Given the description of an element on the screen output the (x, y) to click on. 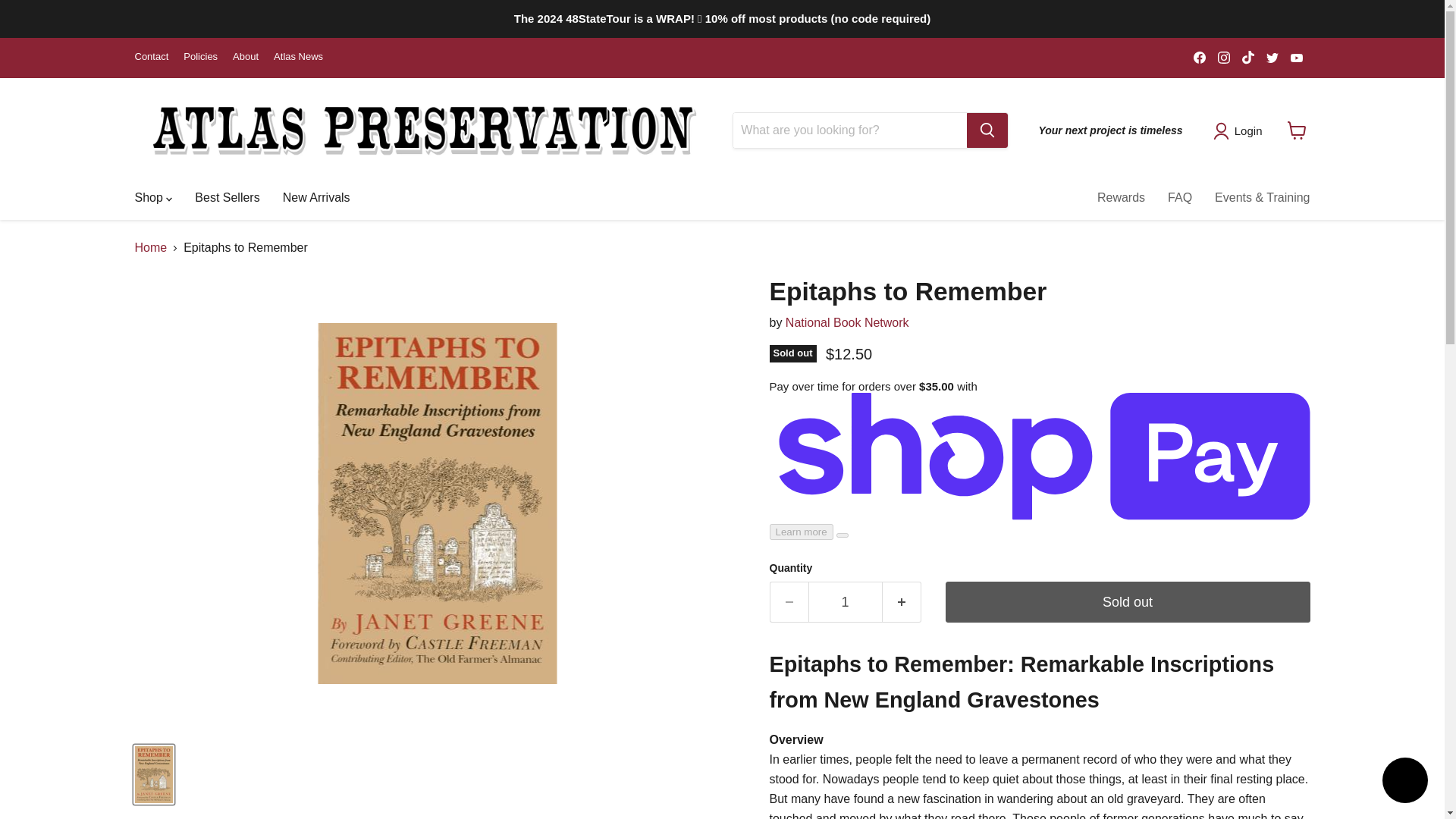
Find us on Twitter (1272, 56)
YouTube (1296, 56)
Login (1240, 130)
Atlas News (298, 57)
Contact (151, 57)
Instagram (1223, 56)
Your next project is timeless (1110, 130)
View cart (1296, 130)
Find us on TikTok (1248, 56)
Find us on Facebook (1199, 56)
